Given the description of an element on the screen output the (x, y) to click on. 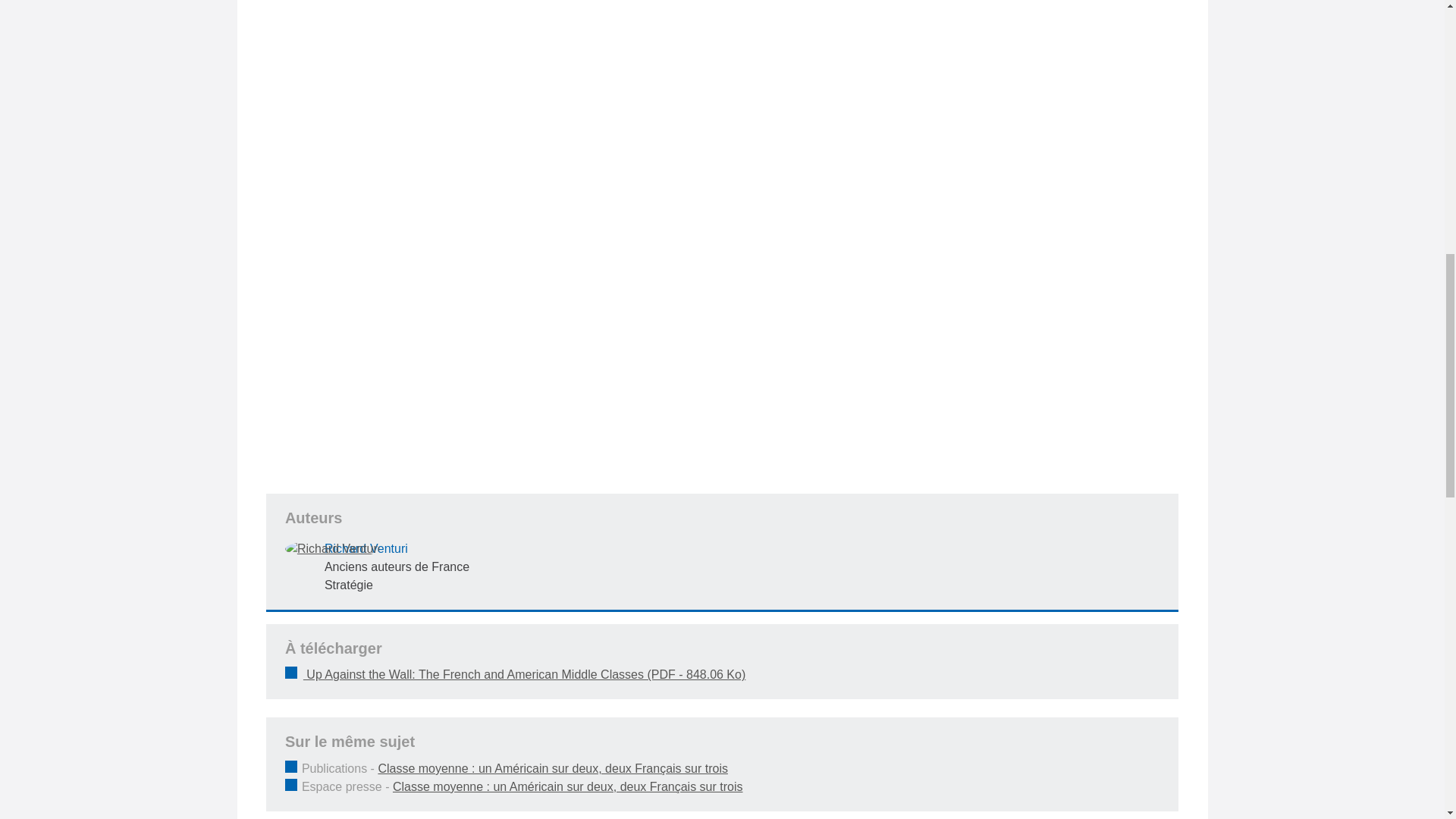
Richard Venturi (332, 548)
Up Against the Wall: The French and American Middle Classes (721, 674)
